Given the description of an element on the screen output the (x, y) to click on. 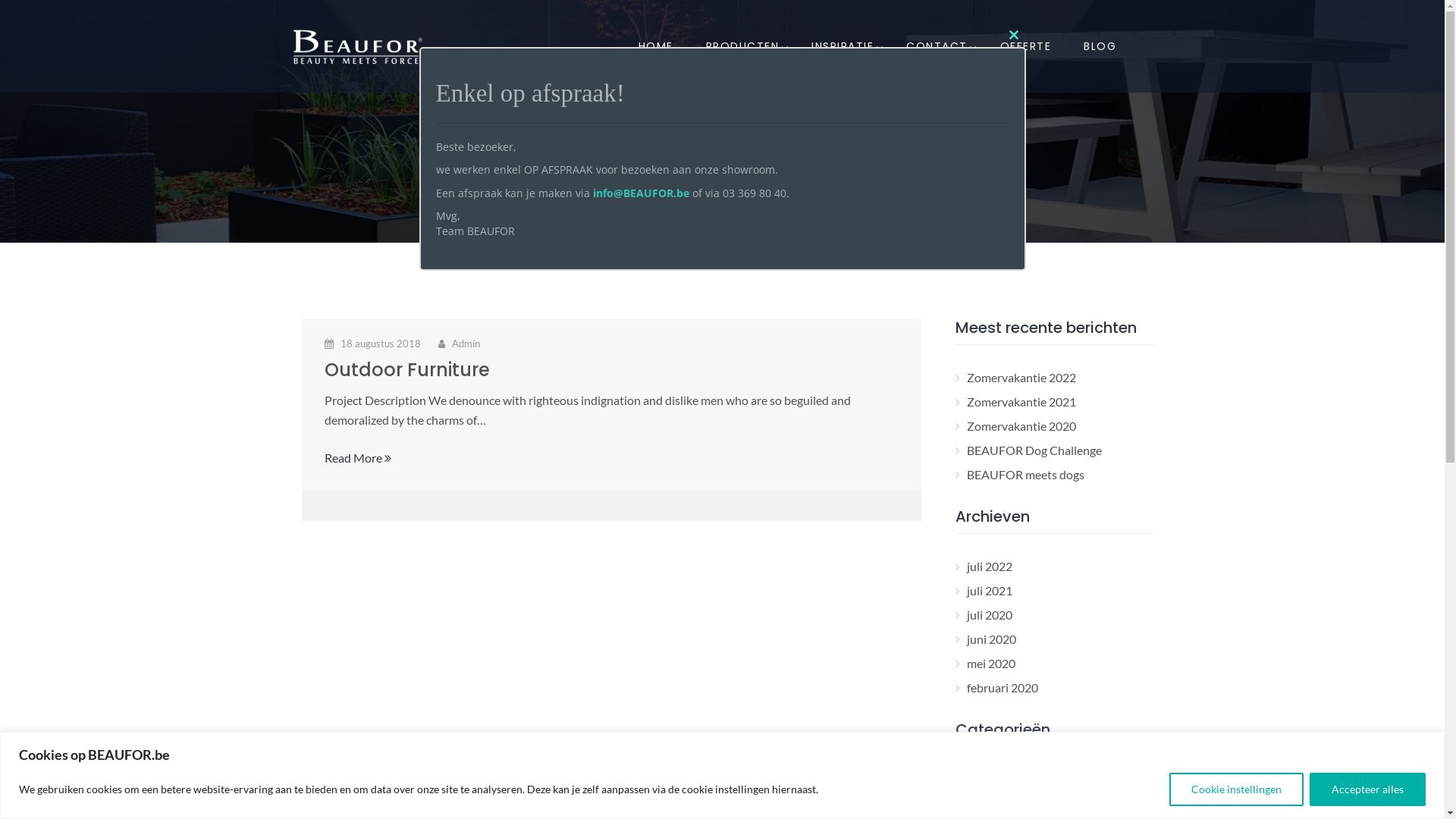
HOME Element type: text (655, 45)
Close this module Element type: text (1013, 34)
INSPIRATIE Element type: text (842, 45)
BEAUFOR meets dogs Element type: text (1025, 474)
BEAUFOR Dog Challenge Element type: text (1033, 449)
juli 2022 Element type: text (989, 565)
Cookie instellingen Element type: text (1236, 788)
Outdoor Furniture Element type: text (406, 369)
Geen categorie Element type: text (1005, 803)
februari 2020 Element type: text (1002, 687)
CONTACT Element type: text (936, 45)
Beauty meets Force Element type: text (1017, 778)
mei 2020 Element type: text (990, 662)
Zomervakantie 2021 Element type: text (1021, 401)
Zomervakantie 2022 Element type: text (1021, 377)
BLOG Element type: text (1099, 45)
OFFERTE Element type: text (1025, 45)
Accepteer alles Element type: text (1367, 788)
Read More Element type: text (357, 457)
juni 2020 Element type: text (991, 638)
juli 2020 Element type: text (989, 614)
Zomervakantie 2020 Element type: text (1021, 425)
info@BEAUFOR.be Element type: text (641, 192)
PRODUCTEN Element type: text (742, 45)
juli 2021 Element type: text (989, 590)
